Given the description of an element on the screen output the (x, y) to click on. 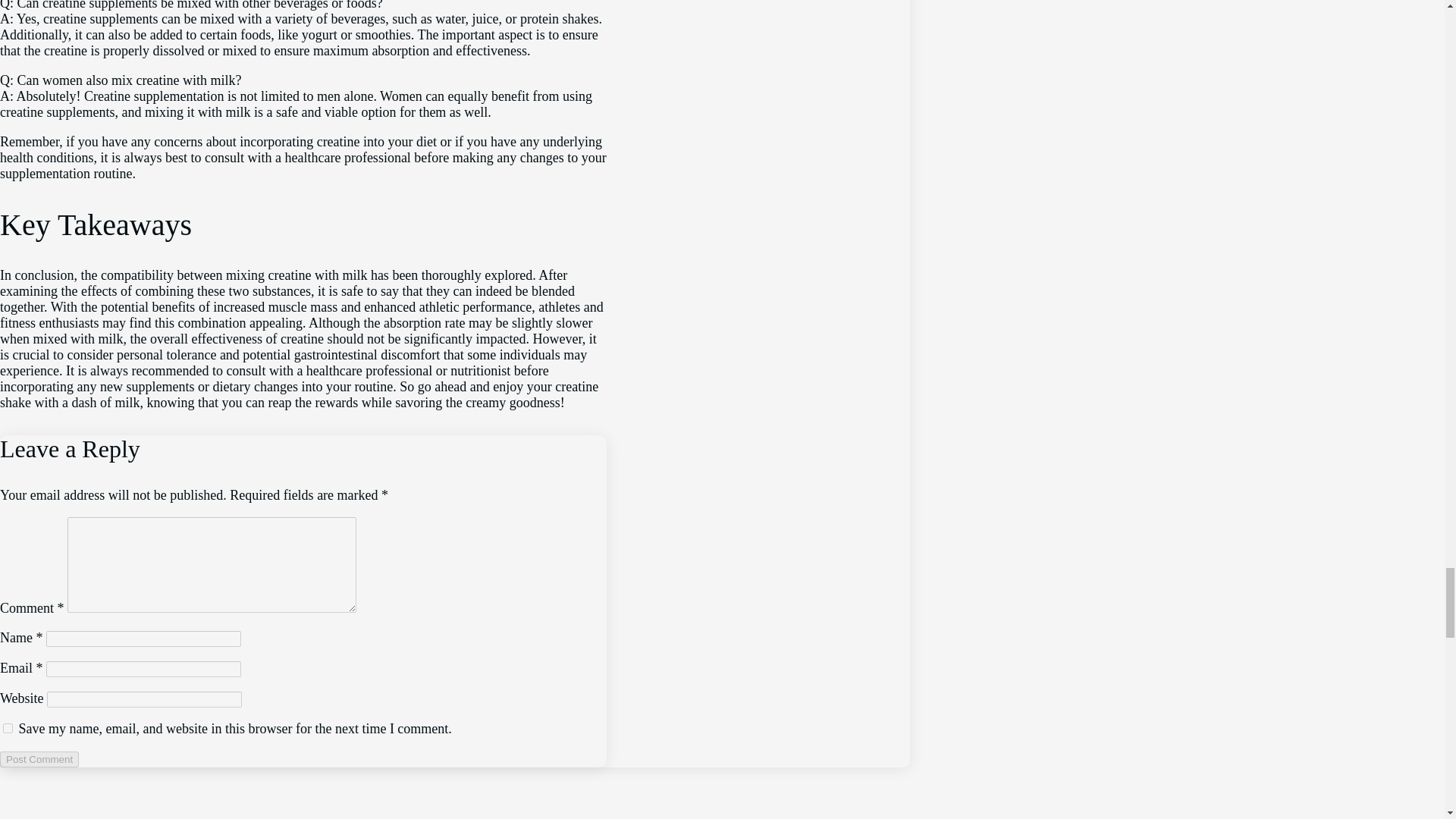
yes (7, 728)
Post Comment (39, 759)
